Given the description of an element on the screen output the (x, y) to click on. 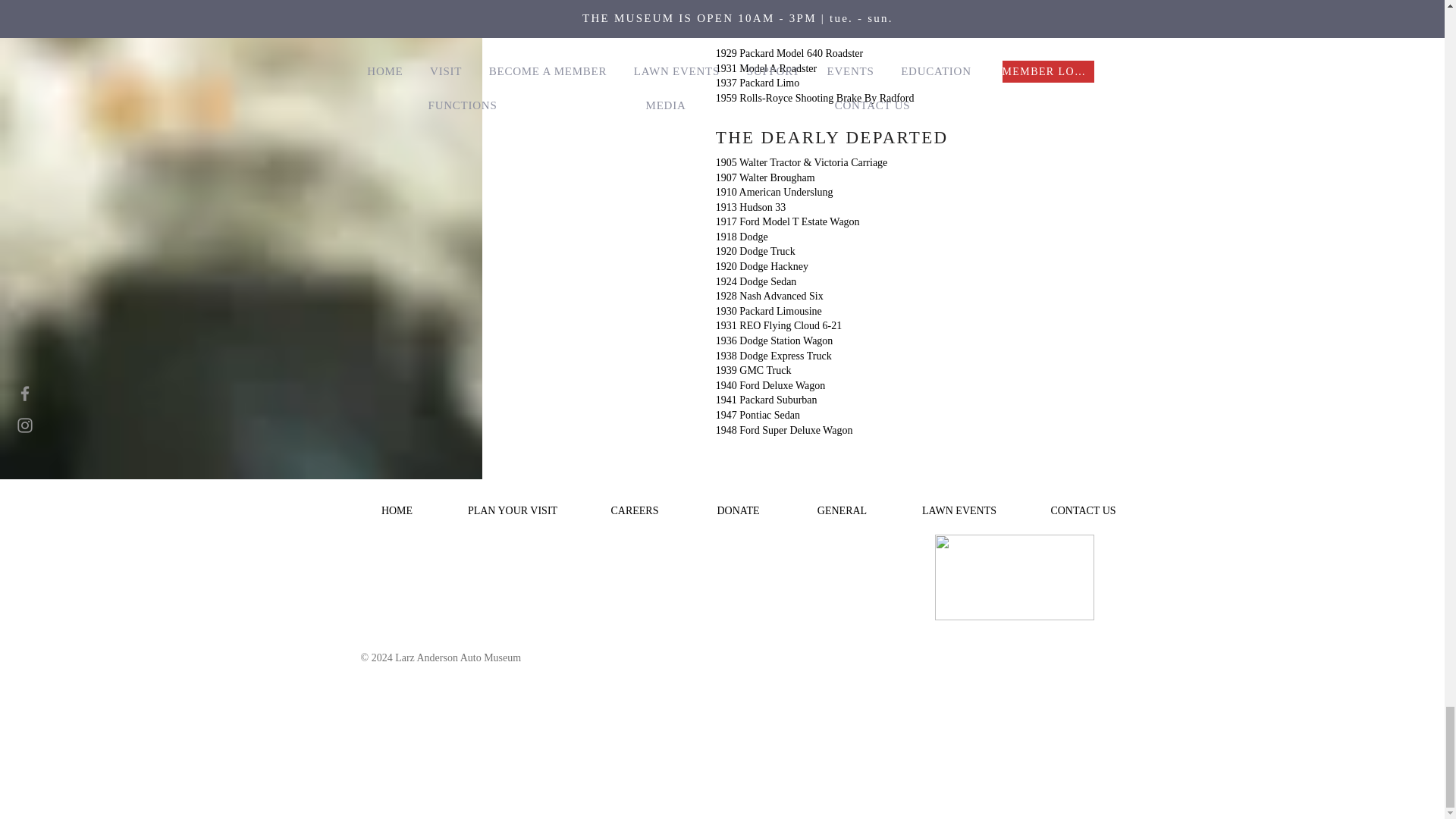
CAREERS (634, 504)
GENERAL (842, 504)
HOME (396, 504)
PLAN YOUR VISIT (511, 504)
LAWN EVENTS (959, 504)
DONATE (738, 504)
CONTACT US (1082, 504)
